Given the description of an element on the screen output the (x, y) to click on. 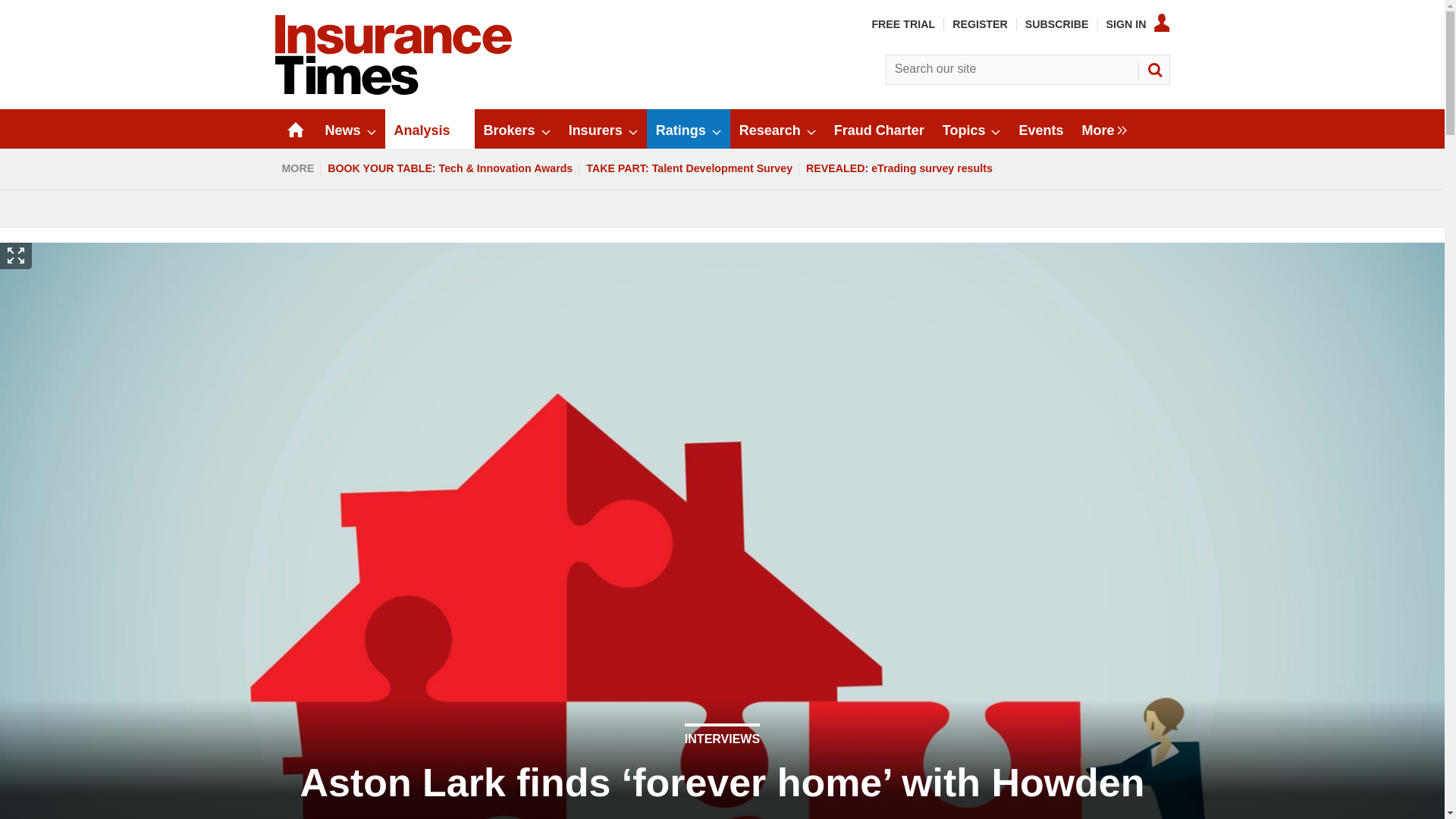
REGISTER (979, 24)
SIGN IN (1138, 24)
REVEALED: eTrading survey results (898, 168)
SUBSCRIBE (1057, 24)
Insert Logo text (393, 90)
TAKE PART: Talent Development Survey (689, 168)
FREE TRIAL (902, 24)
SEARCH (1153, 69)
